Given the description of an element on the screen output the (x, y) to click on. 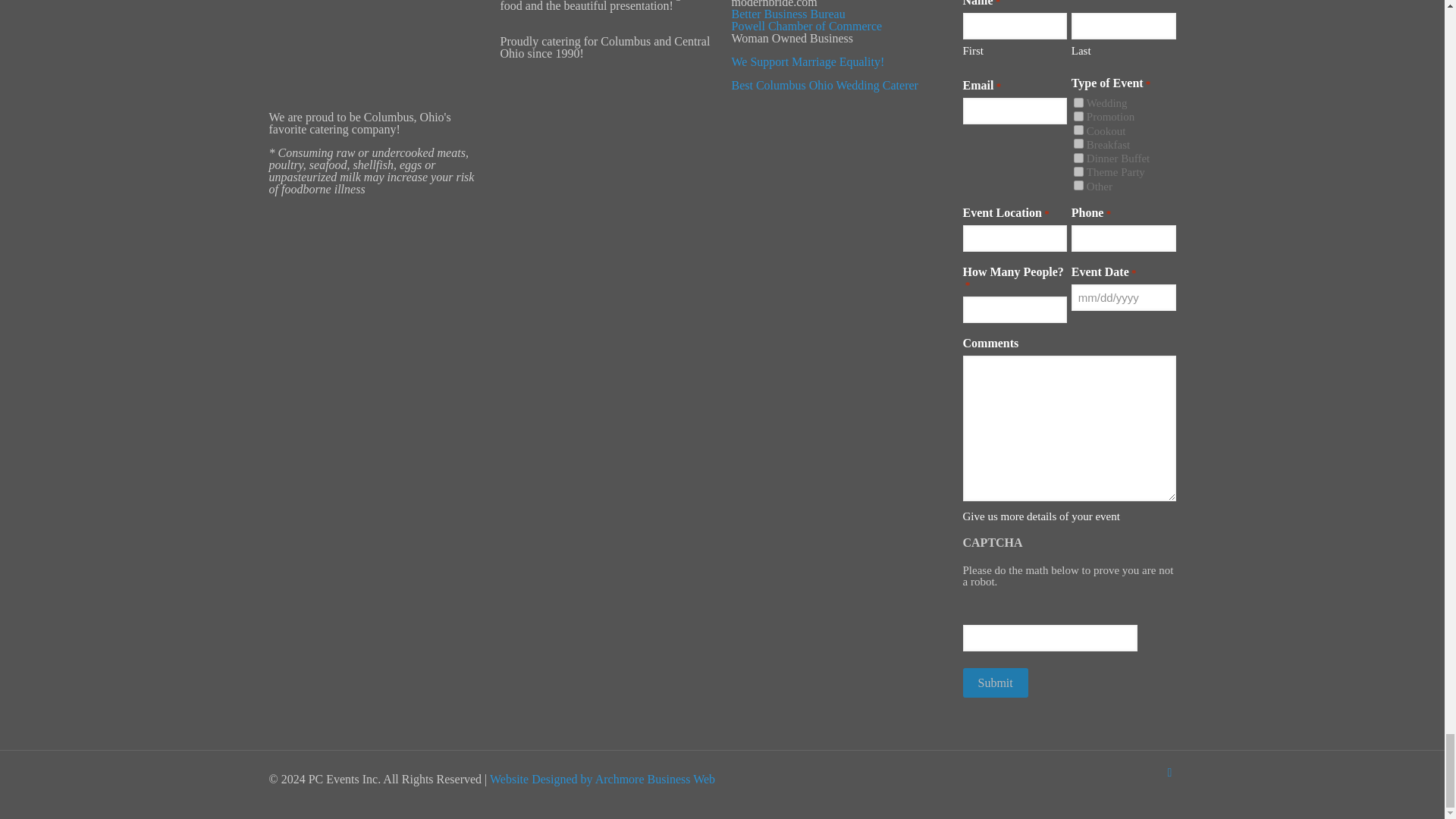
Breakfast (1078, 143)
Promotion (1078, 116)
Cookout (1078, 130)
Dinner Buffet (1078, 157)
Submit (994, 682)
Wedding (1078, 102)
Theme Party (1078, 171)
Other (1078, 185)
